Given the description of an element on the screen output the (x, y) to click on. 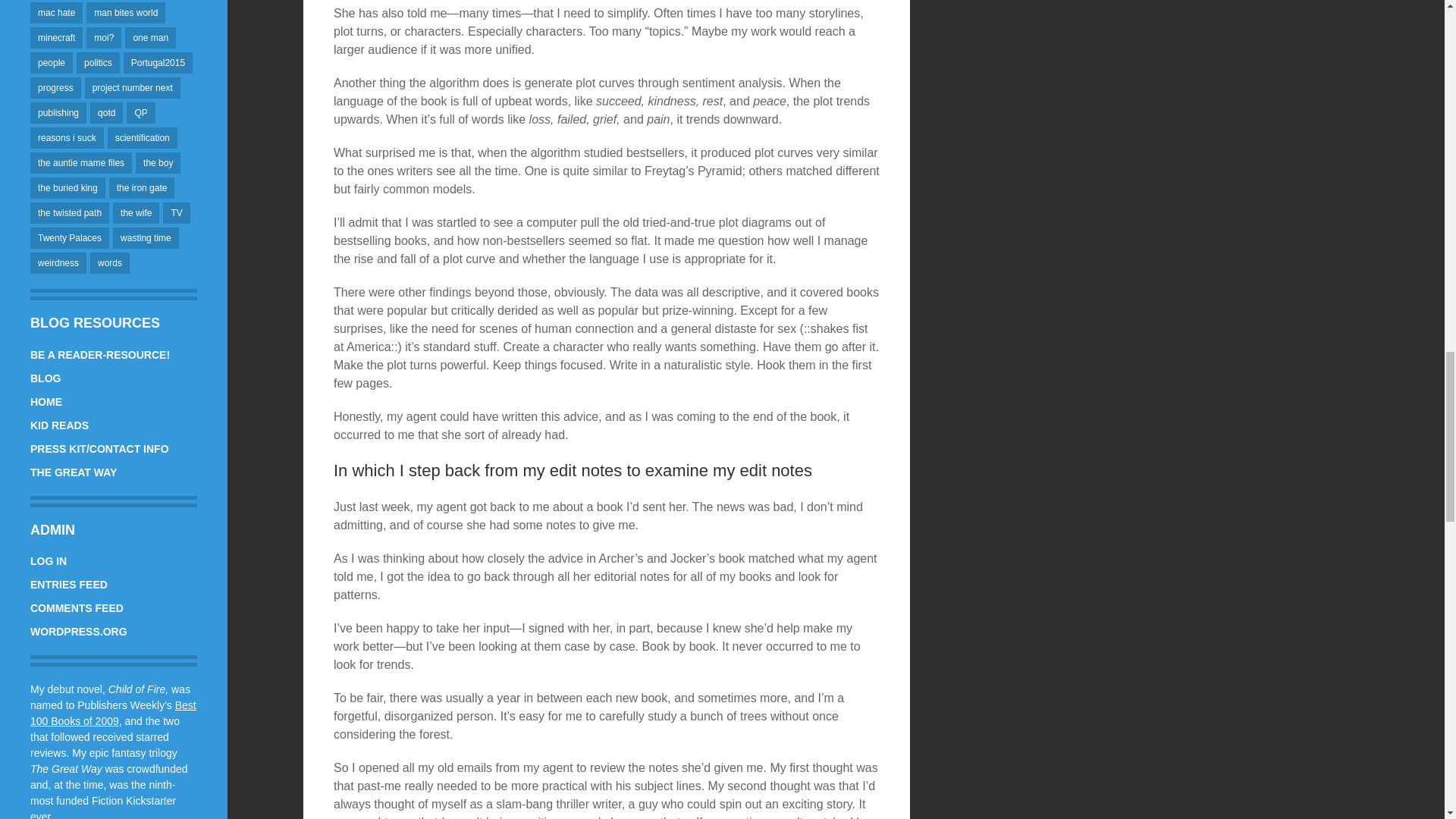
one man (150, 37)
people (51, 62)
mac hate (56, 12)
moi? (102, 37)
man bites world (125, 12)
minecraft (56, 37)
